Given the description of an element on the screen output the (x, y) to click on. 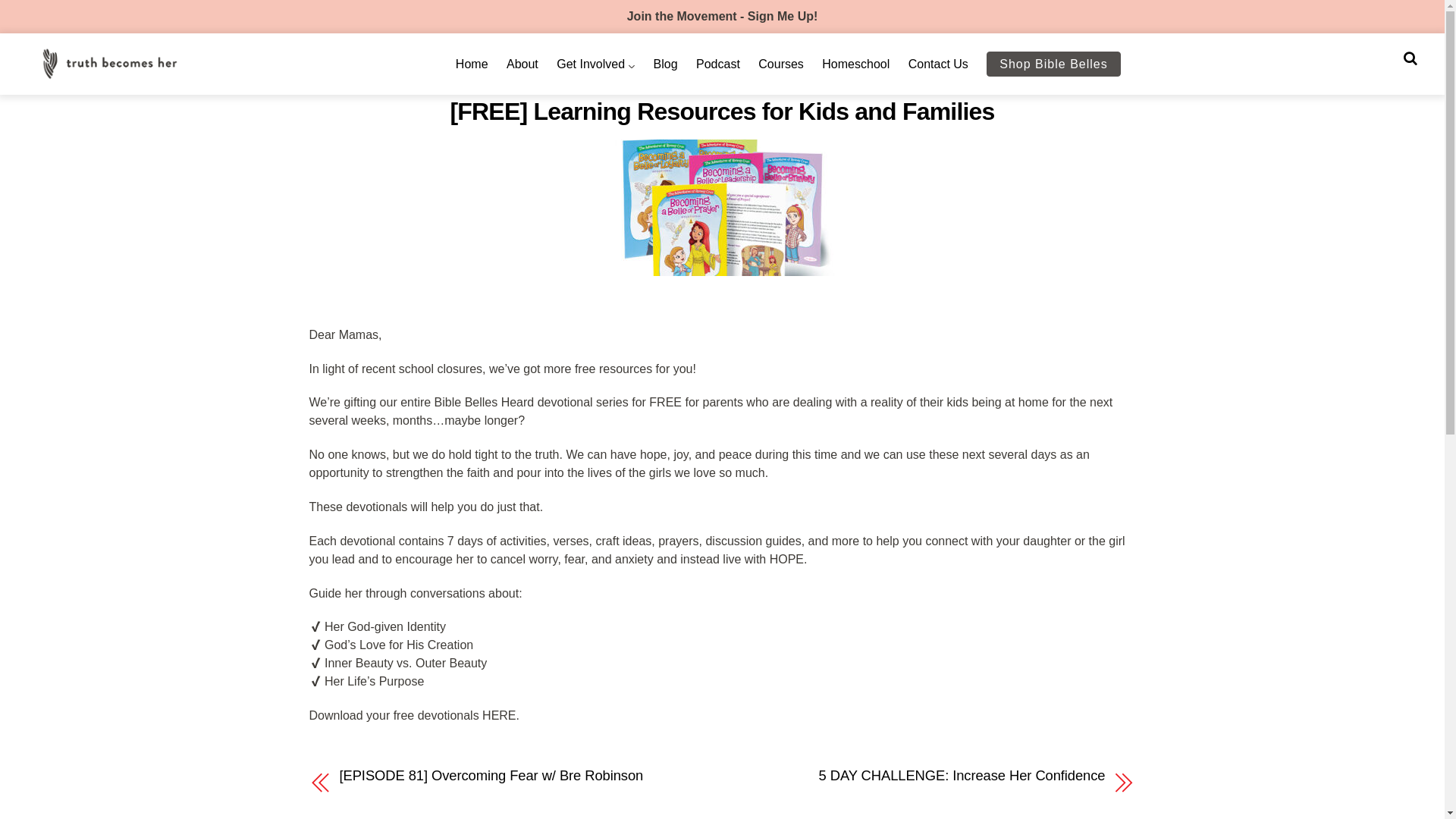
Search (1409, 57)
Truth Becomes Her (109, 72)
Contact Us (938, 63)
Home (471, 63)
Shop Bible Belles (1053, 63)
Blog (665, 63)
Homeschool (855, 63)
Podcast (717, 63)
Courses (780, 63)
tbh-logo (109, 62)
About (522, 63)
5 DAY CHALLENGE: Increase Her Confidence (925, 775)
Get Involved (595, 63)
Join the Movement - Sign Me Up! (722, 16)
HERE (498, 715)
